Given the description of an element on the screen output the (x, y) to click on. 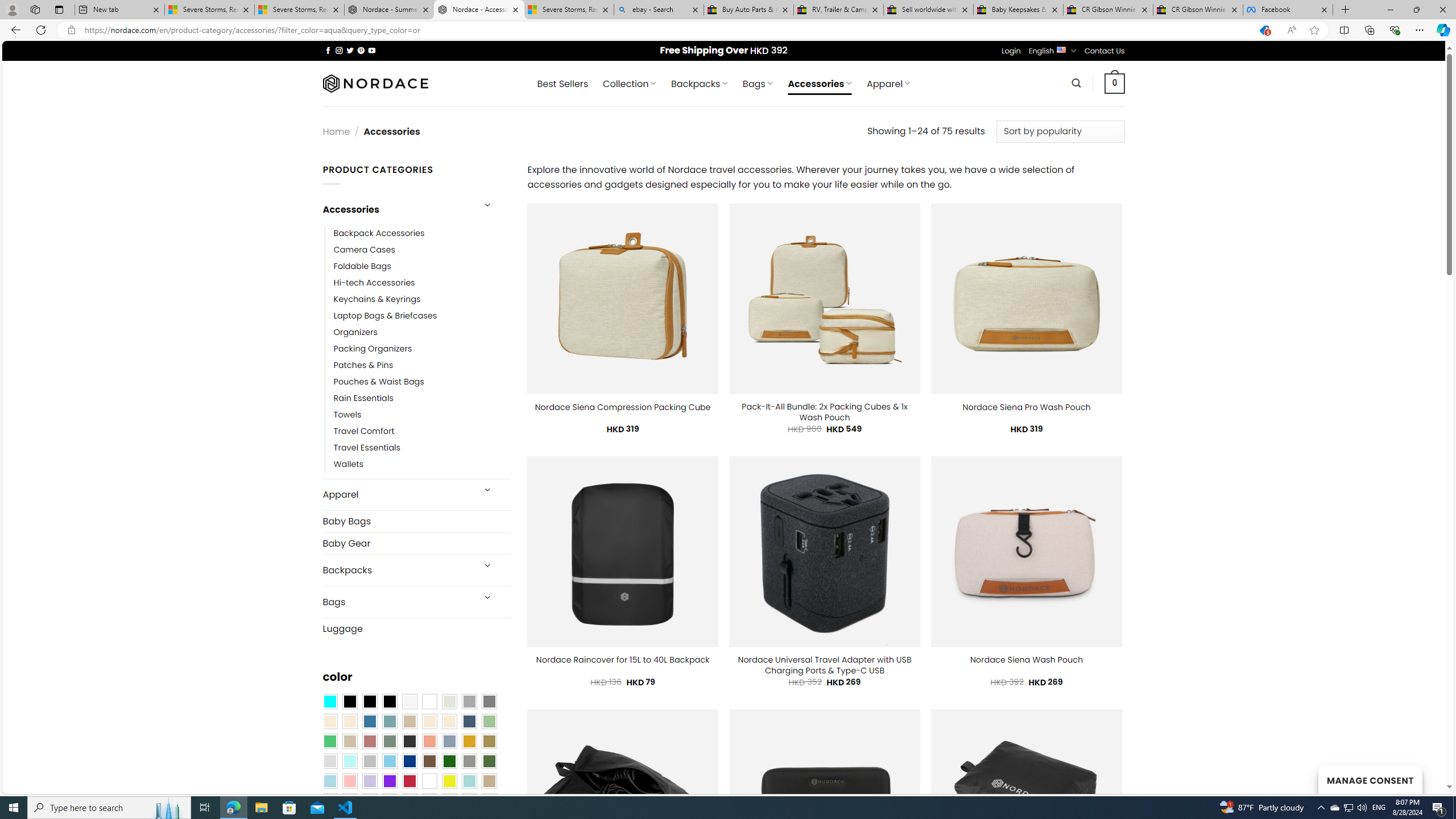
Light Purple (369, 780)
Beige (329, 721)
Organizers (422, 332)
Wallets (422, 464)
Hi-tech Accessories (422, 282)
Green (488, 761)
Nordace - Accessories (478, 9)
